Given the description of an element on the screen output the (x, y) to click on. 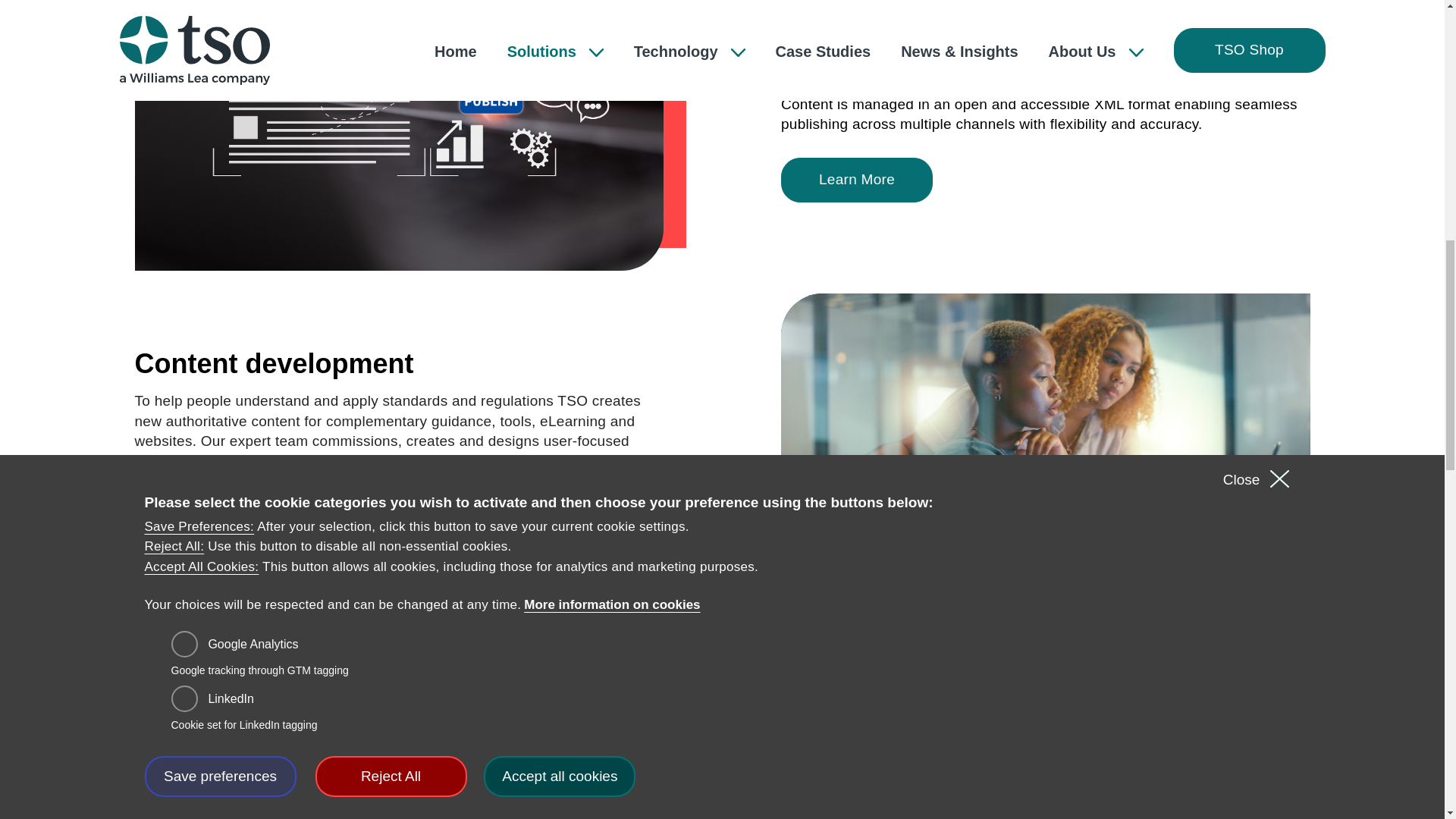
Learn More (210, 516)
Learn More (856, 180)
